Given the description of an element on the screen output the (x, y) to click on. 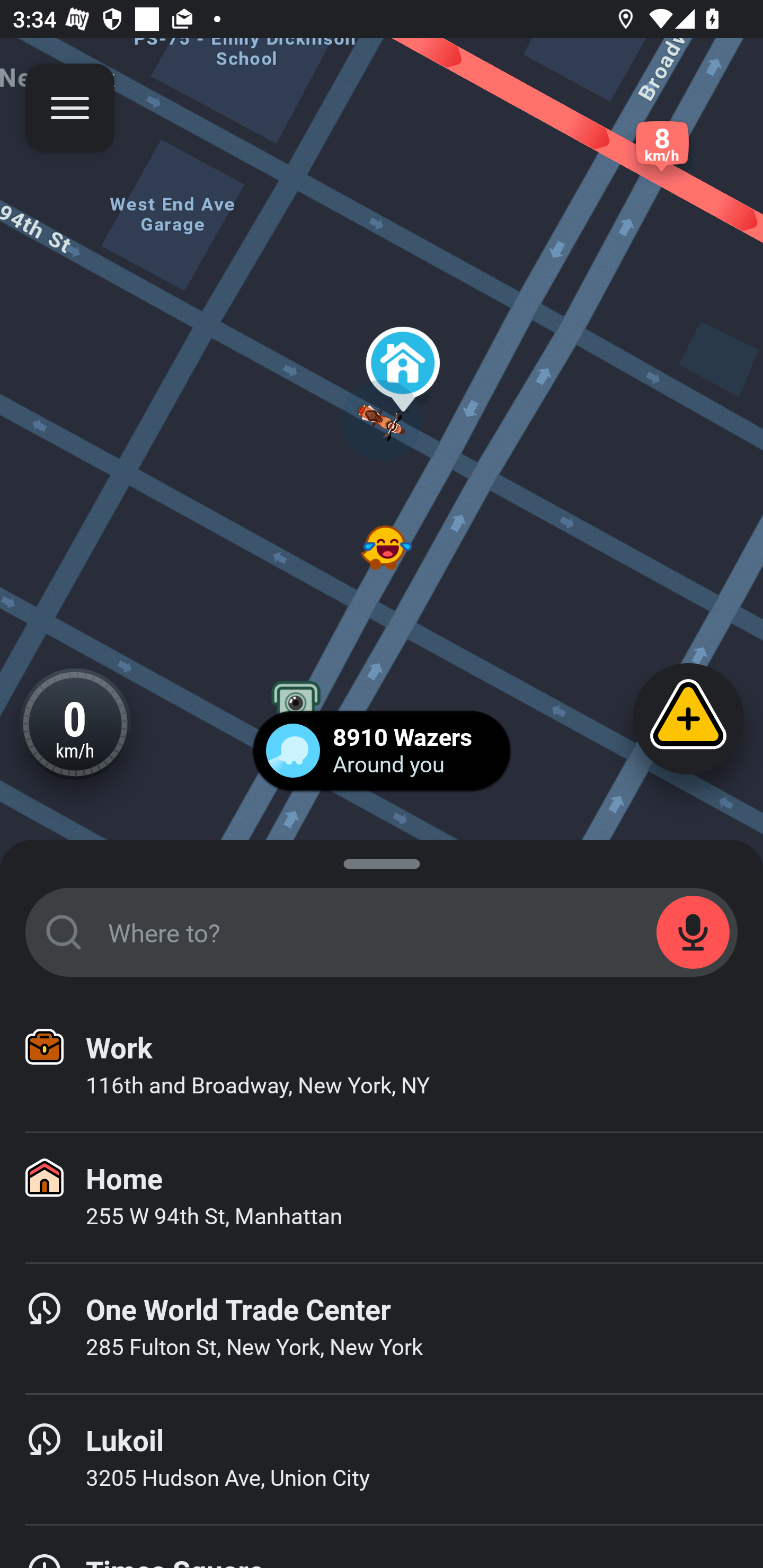
SUGGESTIONS_SHEET_DRAG_HANDLE (381, 860)
START_STATE_SEARCH_FIELD Where to? (381, 931)
Work 116th and Broadway, New York, NY (381, 1066)
Home 255 W 94th St, Manhattan (381, 1197)
Lukoil 3205 Hudson Ave, Union City (381, 1459)
